Given the description of an element on the screen output the (x, y) to click on. 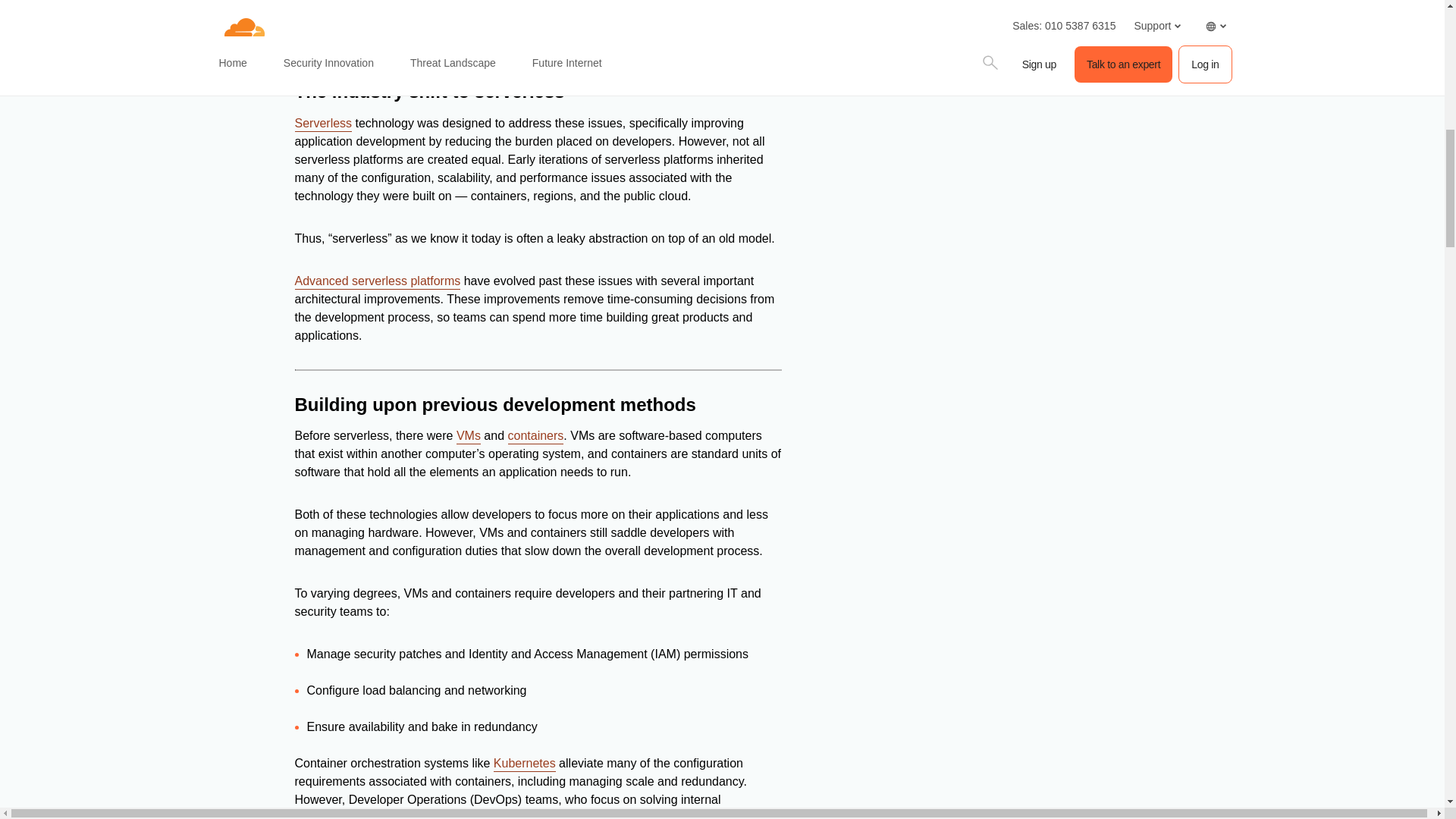
containers (536, 436)
Serverless (323, 124)
require Kubernetes expertise (690, 815)
Advanced serverless platforms (377, 281)
Kubernetes (524, 764)
VMs (468, 436)
